Given the description of an element on the screen output the (x, y) to click on. 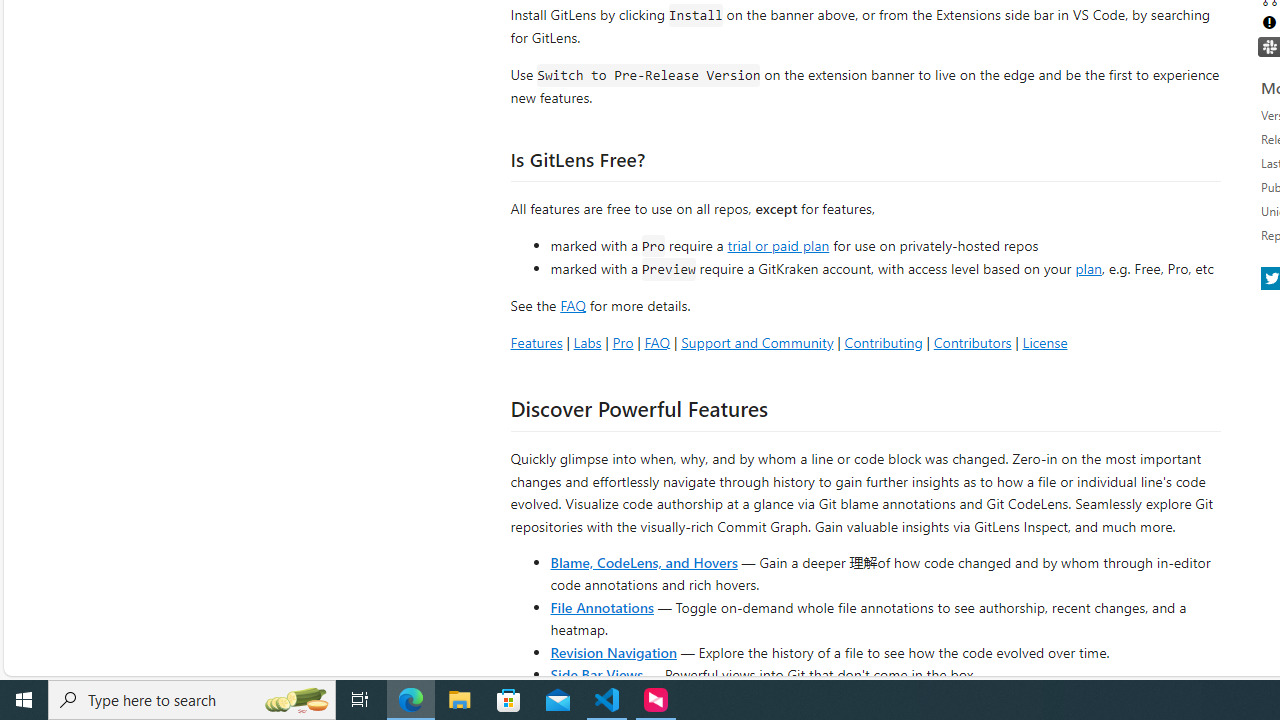
FAQ (656, 341)
Labs (587, 341)
Revision Navigation (613, 651)
Features (536, 341)
